Given the description of an element on the screen output the (x, y) to click on. 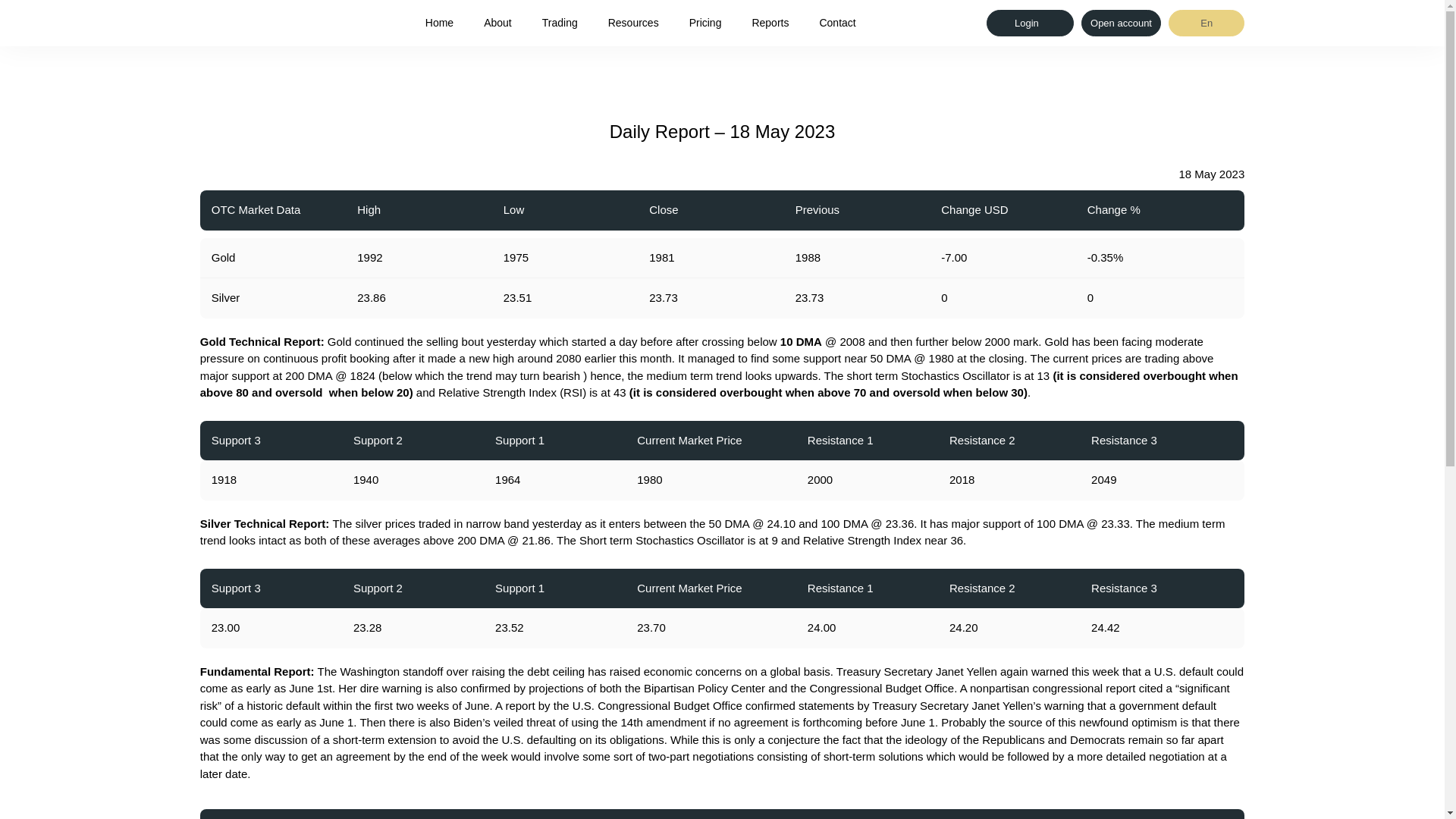
Login (1030, 22)
Open account (1120, 22)
En (1206, 22)
Resources (633, 22)
